Given the description of an element on the screen output the (x, y) to click on. 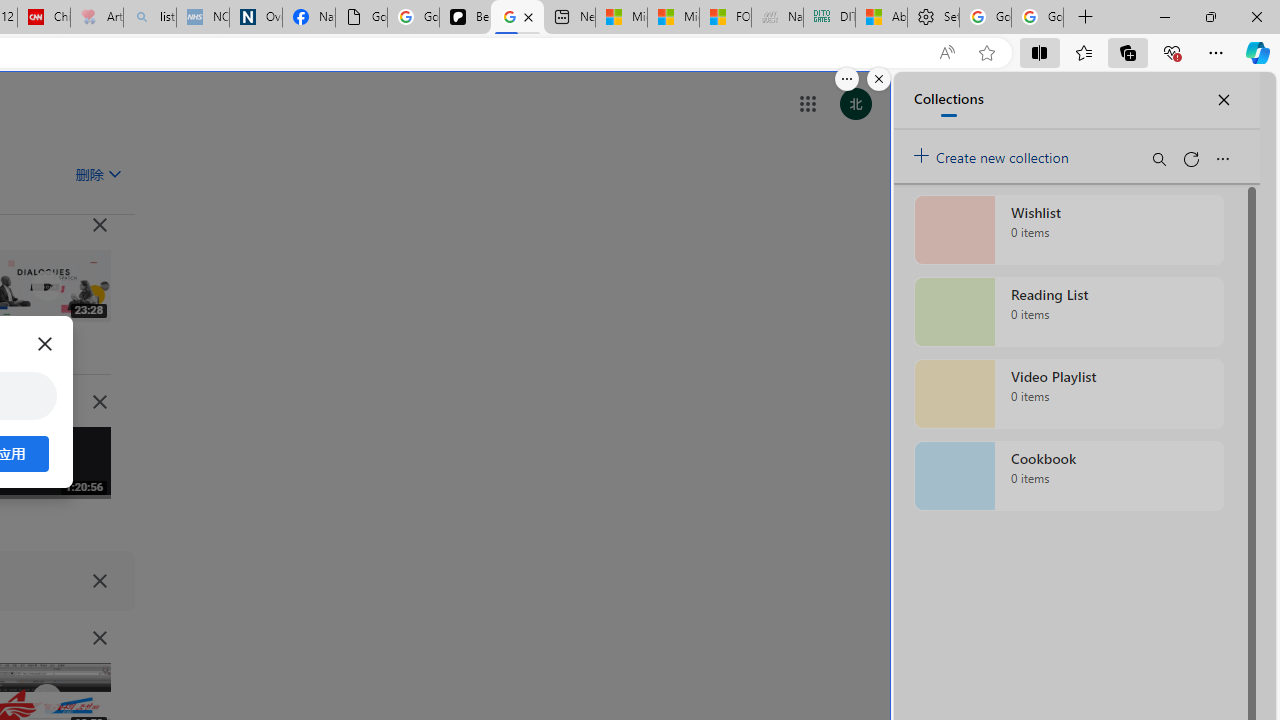
Class: DI7Mnf NMm5M (100, 580)
Aberdeen, Hong Kong SAR hourly forecast | Microsoft Weather (881, 17)
Be Smart | creating Science videos | Patreon (465, 17)
